Given the description of an element on the screen output the (x, y) to click on. 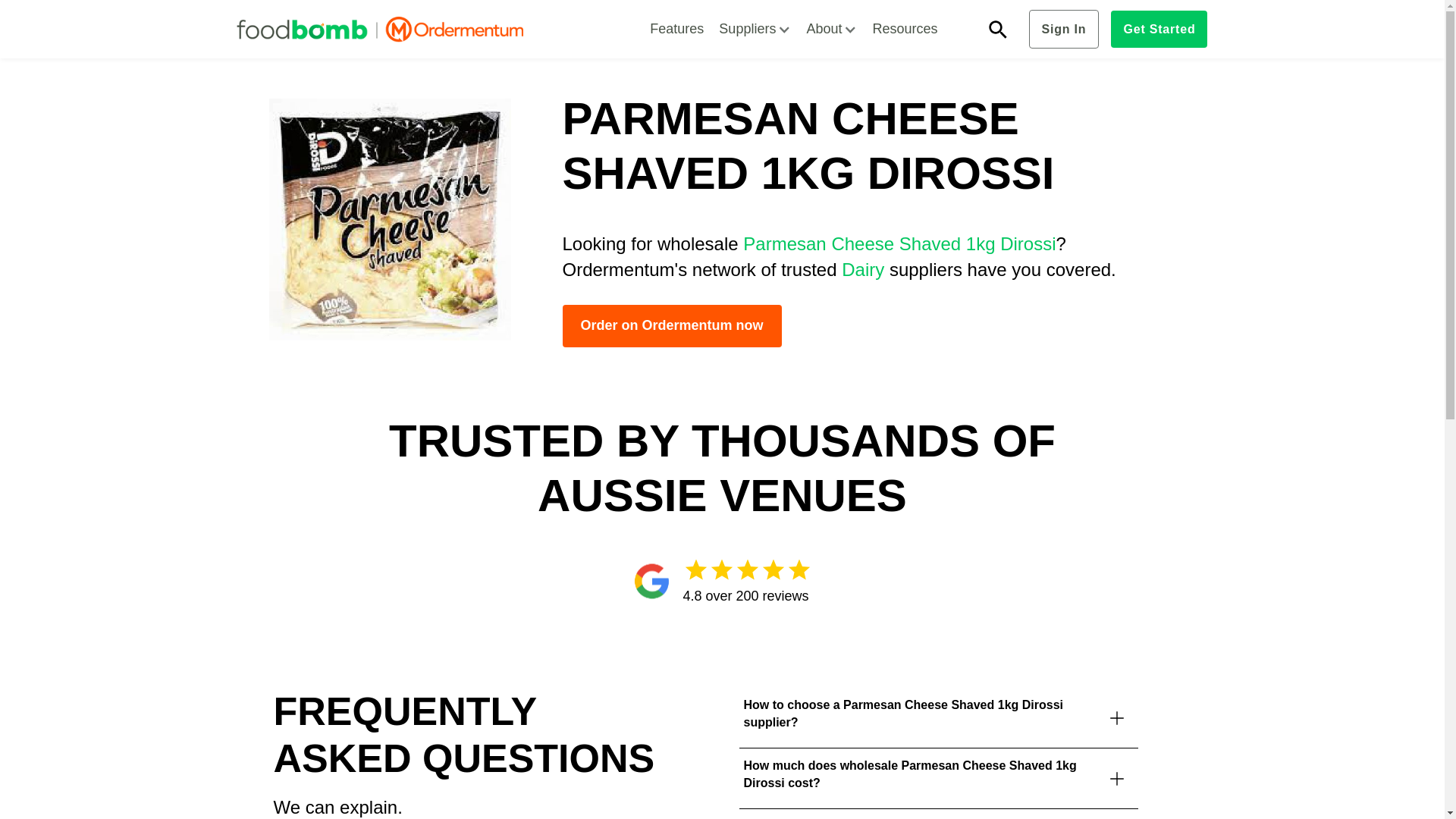
4.8 over 200 reviews (720, 581)
Order on Ordermentum now (671, 325)
Get Started (1158, 28)
Features (676, 29)
Resources (904, 29)
Sign In (1063, 28)
